Given the description of an element on the screen output the (x, y) to click on. 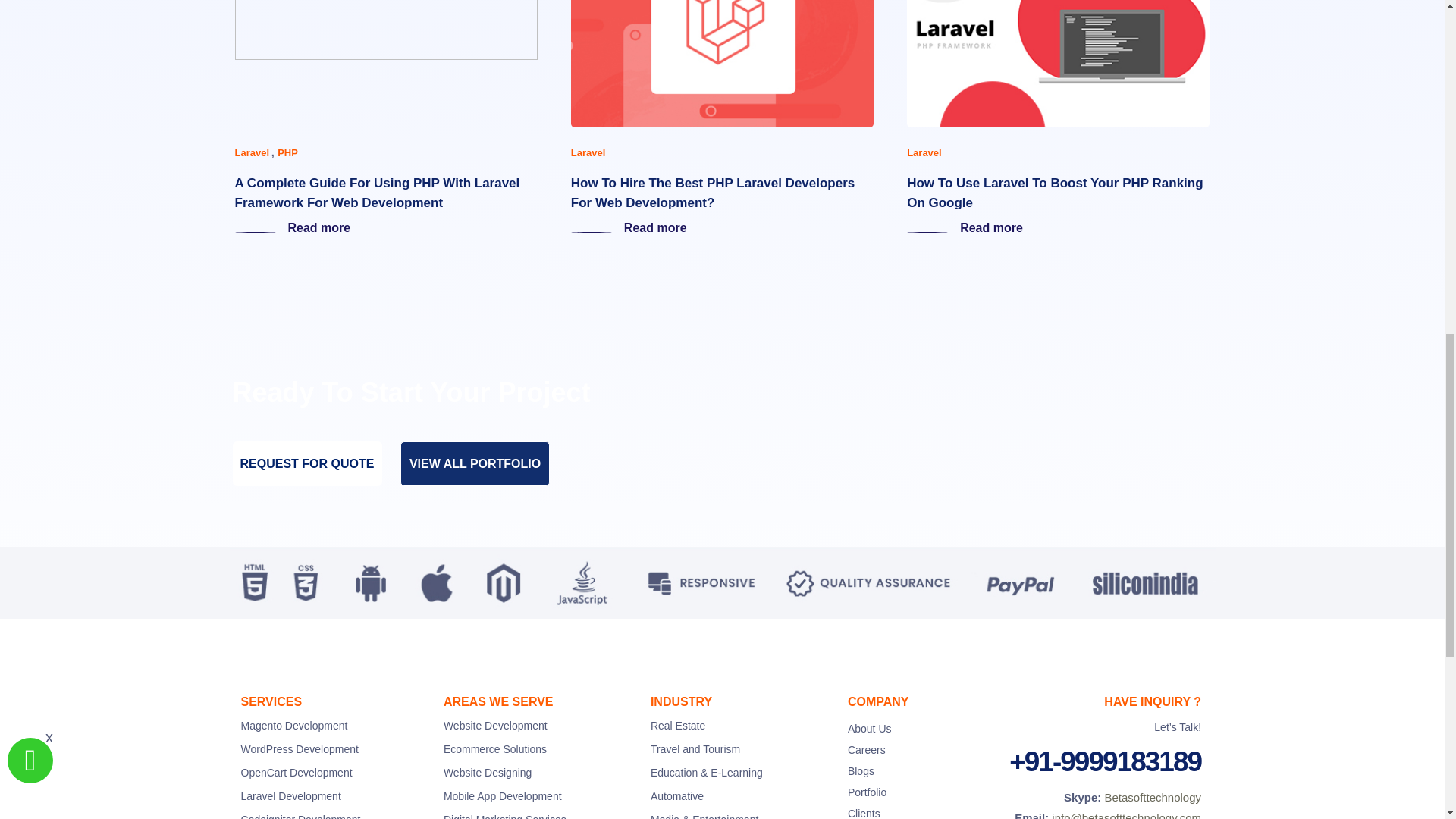
skype (1152, 797)
